Given the description of an element on the screen output the (x, y) to click on. 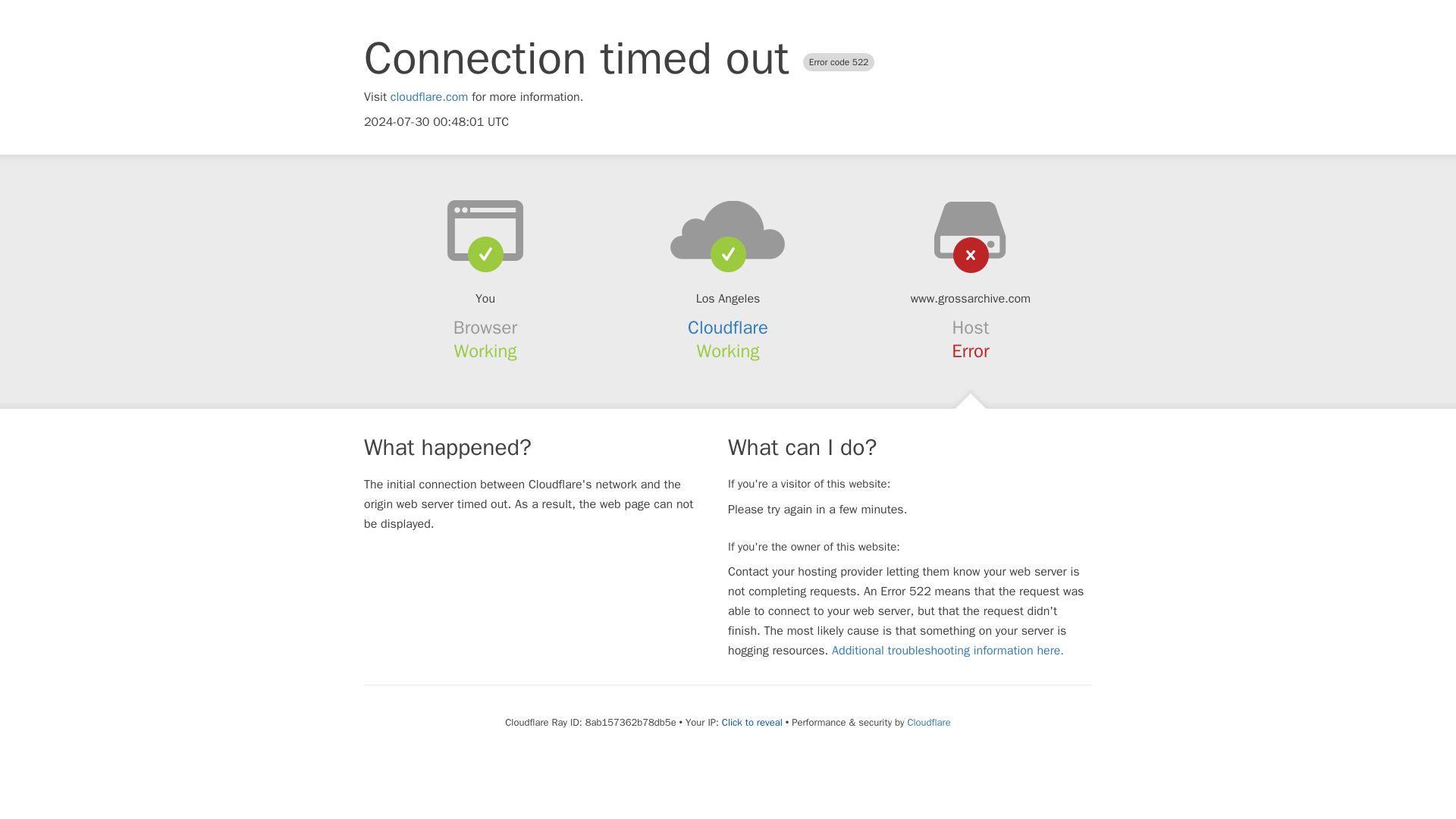
cloudflare.com (429, 96)
Cloudflare (727, 327)
Click to reveal (752, 722)
Additional troubleshooting information here. (947, 650)
Cloudflare (928, 721)
